Given the description of an element on the screen output the (x, y) to click on. 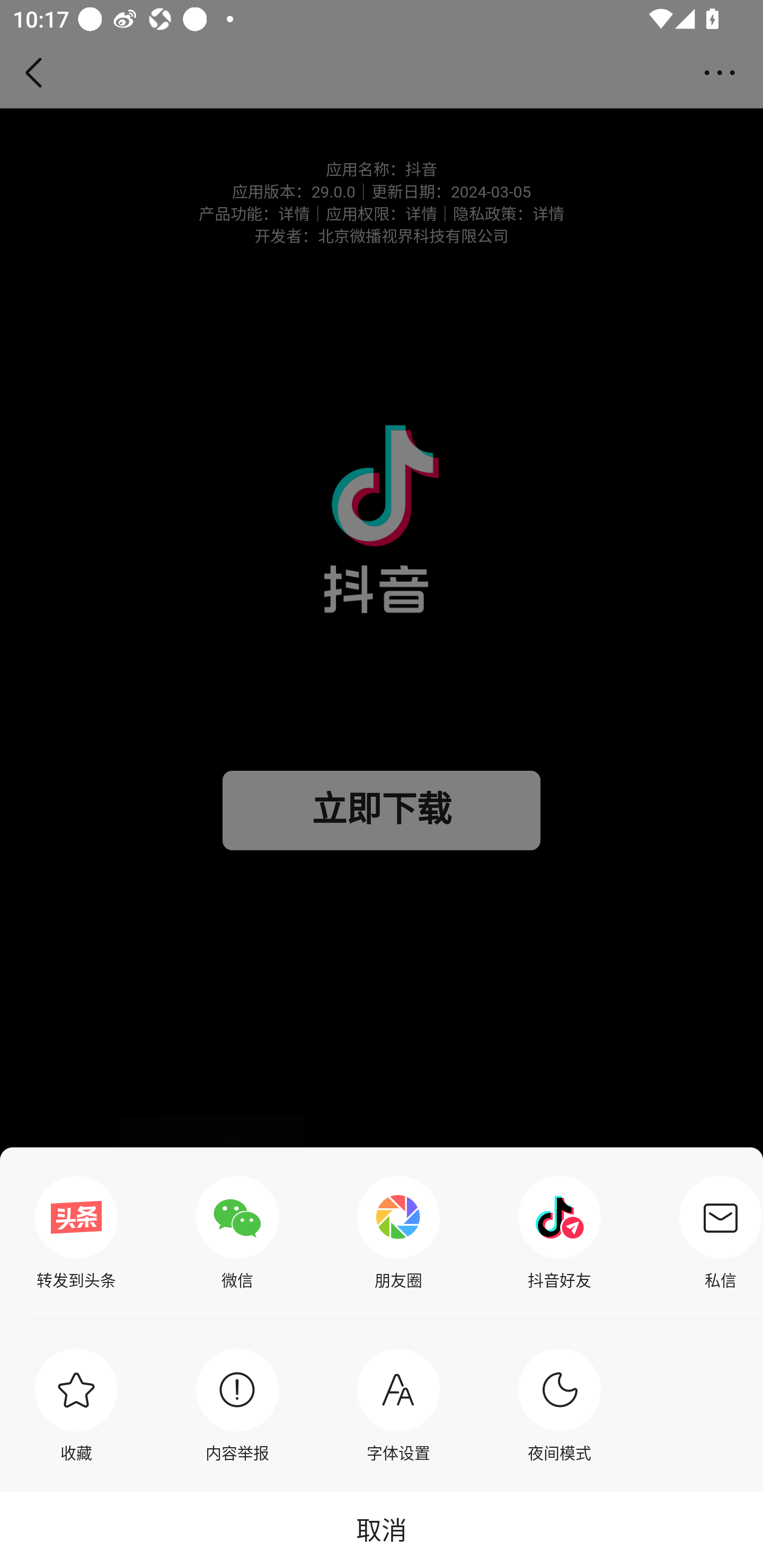
转发到头条 (76, 1232)
微信 (237, 1232)
朋友圈 (398, 1232)
抖音好友 (559, 1232)
私信 (716, 1232)
收藏 (76, 1405)
内容举报 (237, 1405)
字体设置 (398, 1405)
夜间模式 (559, 1405)
取消 (381, 1529)
